Given the description of an element on the screen output the (x, y) to click on. 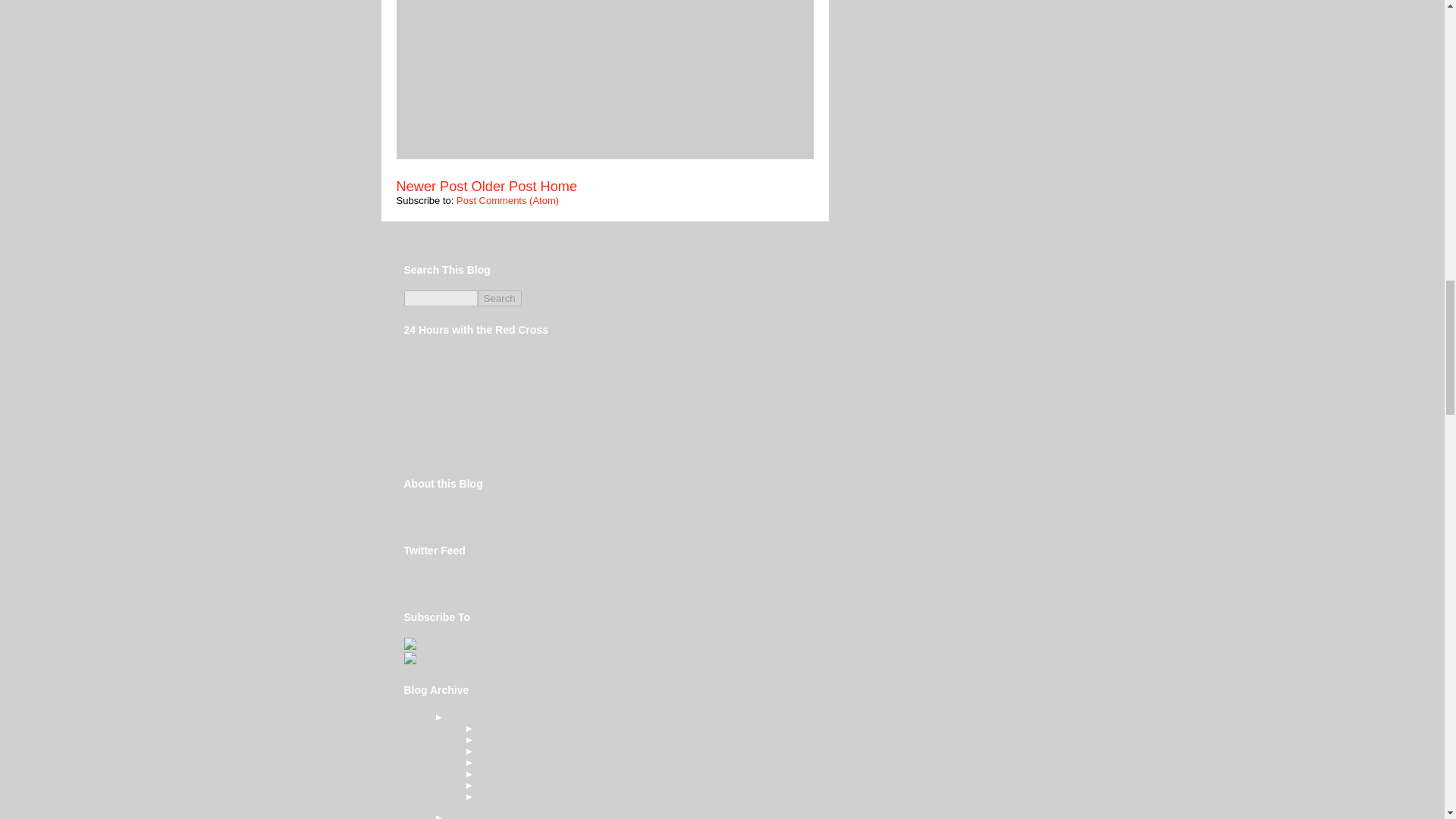
Search (499, 298)
Older Post (504, 186)
Older Post (504, 186)
Search (499, 298)
Newer Post (431, 186)
search (440, 298)
search (499, 298)
Home (559, 186)
Newer Post (431, 186)
Search (499, 298)
